Given the description of an element on the screen output the (x, y) to click on. 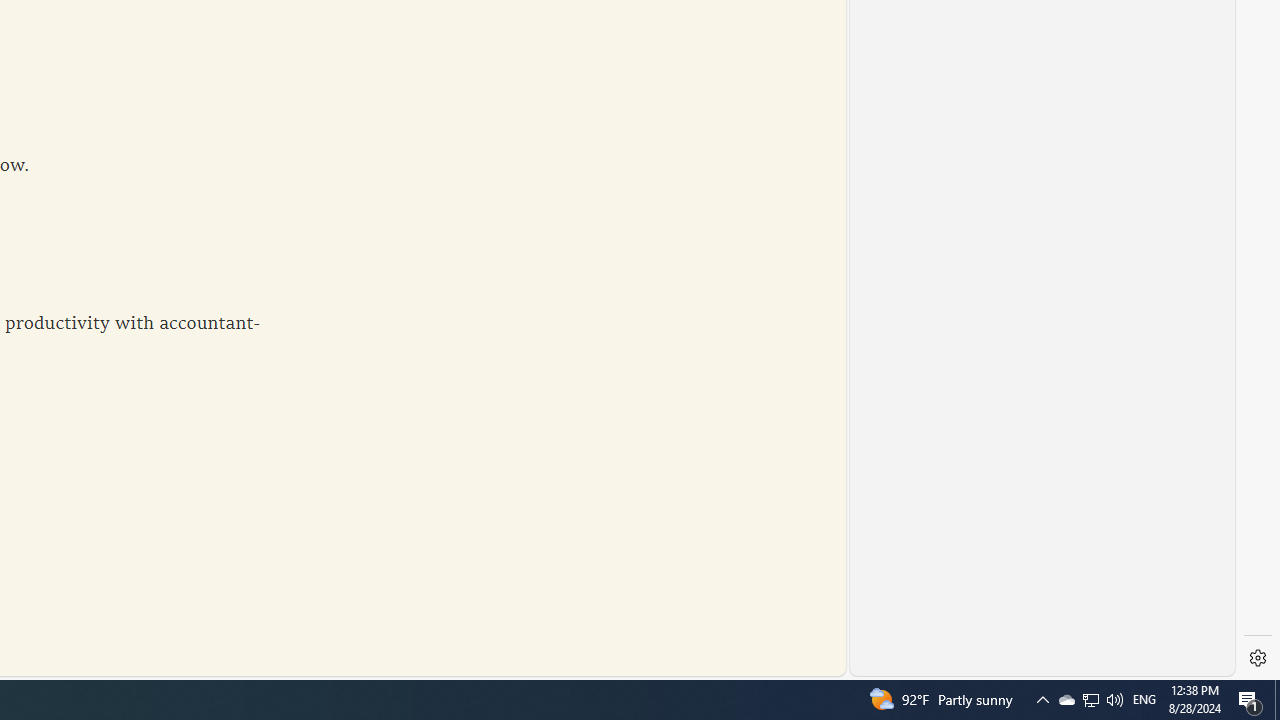
Settings (1258, 658)
